Given the description of an element on the screen output the (x, y) to click on. 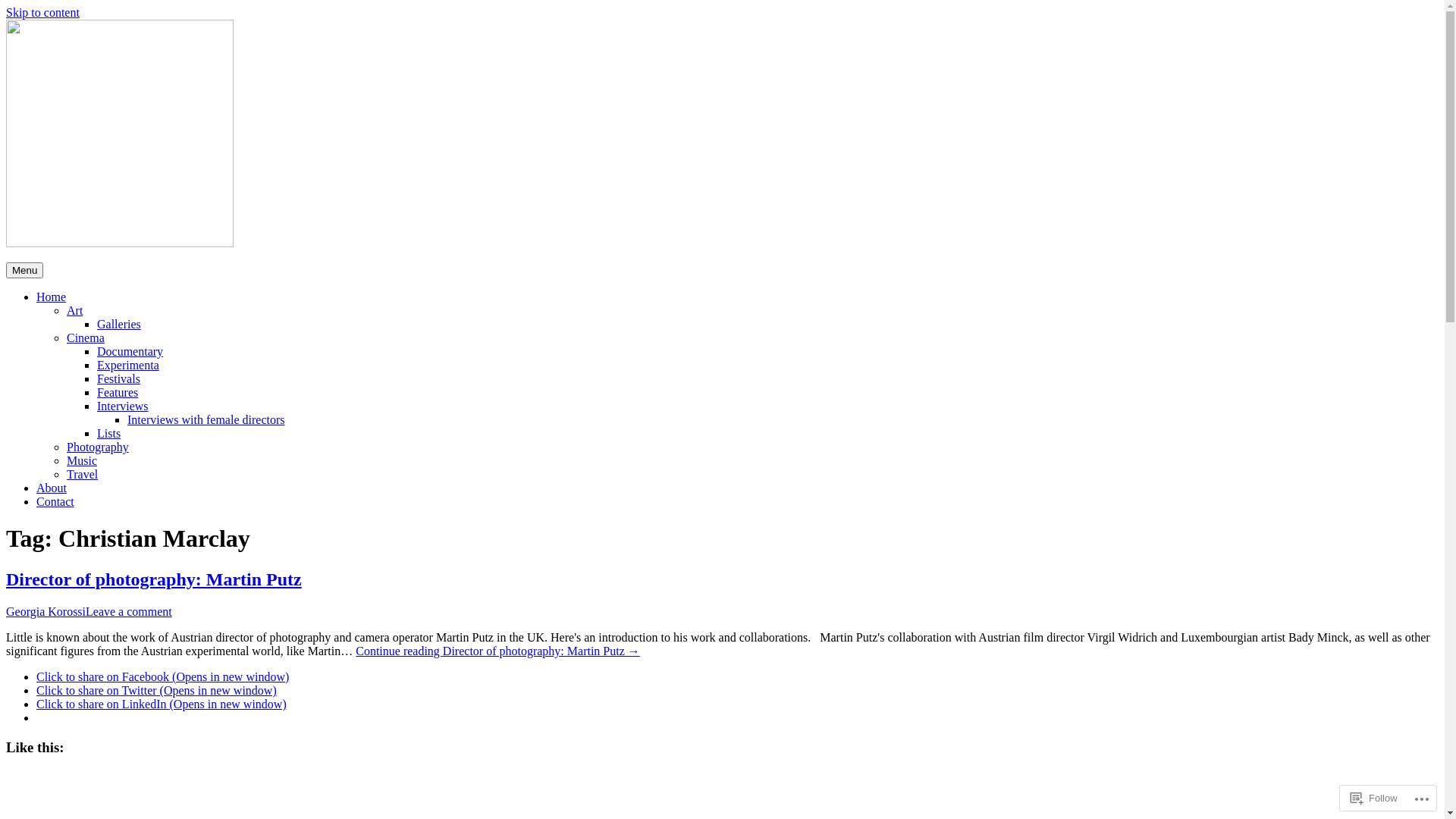
Leave a comment Element type: text (128, 611)
Interviews with female directors Element type: text (205, 419)
Georgia Korossi Element type: text (45, 611)
Like or Reblog Element type: hover (722, 790)
Follow Element type: text (1373, 797)
Photography Element type: text (97, 446)
Director of photography: Martin Putz Element type: text (153, 579)
Travel Element type: text (81, 473)
Documentary Element type: text (130, 351)
Contact Element type: text (55, 501)
Interviews Element type: text (122, 405)
Menu Element type: text (24, 270)
About Element type: text (51, 487)
Lists Element type: text (108, 432)
Music Element type: text (81, 460)
Click to share on Facebook (Opens in new window) Element type: text (162, 676)
Skip to content Element type: text (42, 12)
Home Element type: text (50, 296)
Galleries Element type: text (119, 323)
June 2, 2013 Element type: text (37, 638)
Cinema Element type: text (85, 337)
Art Element type: text (74, 310)
Click to share on LinkedIn (Opens in new window) Element type: text (161, 703)
Festivals Element type: text (118, 378)
Features Element type: text (117, 391)
Experimenta Element type: text (128, 364)
Click to share on Twitter (Opens in new window) Element type: text (156, 690)
